Given the description of an element on the screen output the (x, y) to click on. 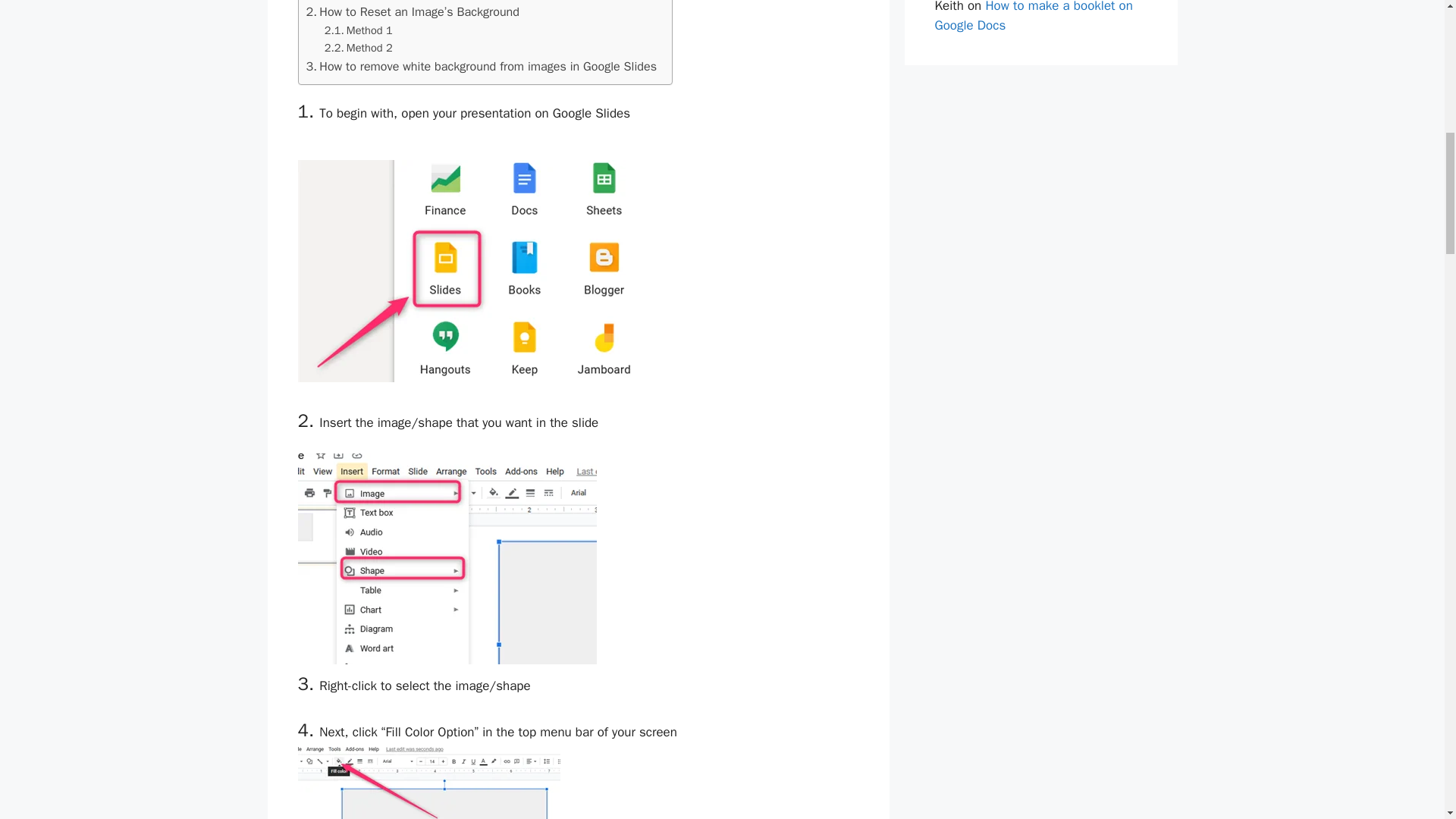
Method 2 (358, 47)
Method 1 (358, 30)
Steps: (330, 1)
How to remove white background from images in Google Slides (481, 66)
How to remove white background from images in Google Slides (481, 66)
Method 1 (358, 30)
How to make a booklet on Google Docs (1033, 16)
Method 2 (358, 47)
Steps: (330, 1)
